Given the description of an element on the screen output the (x, y) to click on. 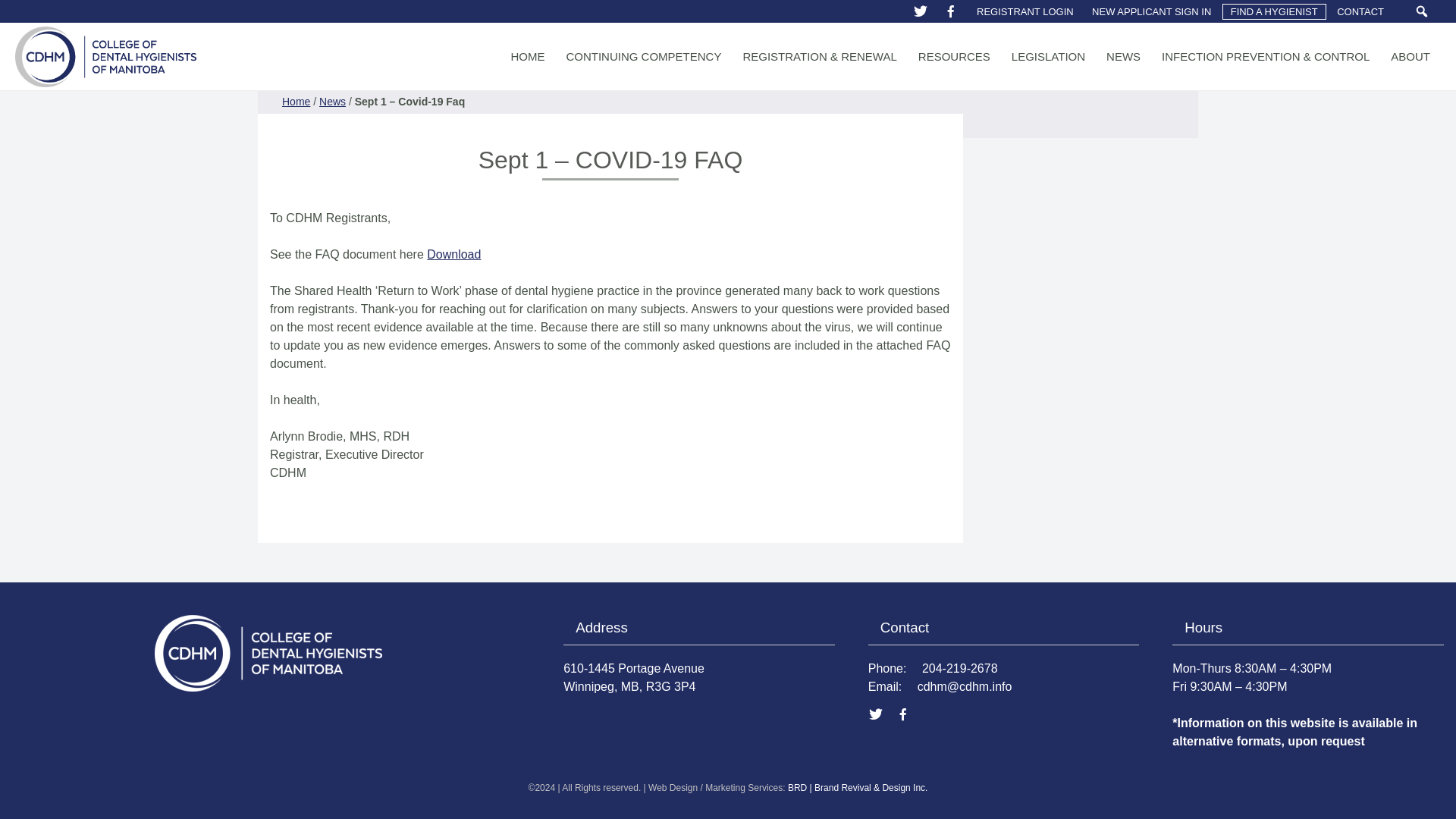
RESOURCES (954, 56)
CONTACT (1360, 11)
Download (453, 254)
LEGISLATION (1048, 56)
News (332, 101)
FIND A HYGIENIST (1273, 11)
REGISTRANT LOGIN (1025, 11)
Home (296, 101)
CONTINUING COMPETENCY (643, 56)
Download (453, 254)
